Given the description of an element on the screen output the (x, y) to click on. 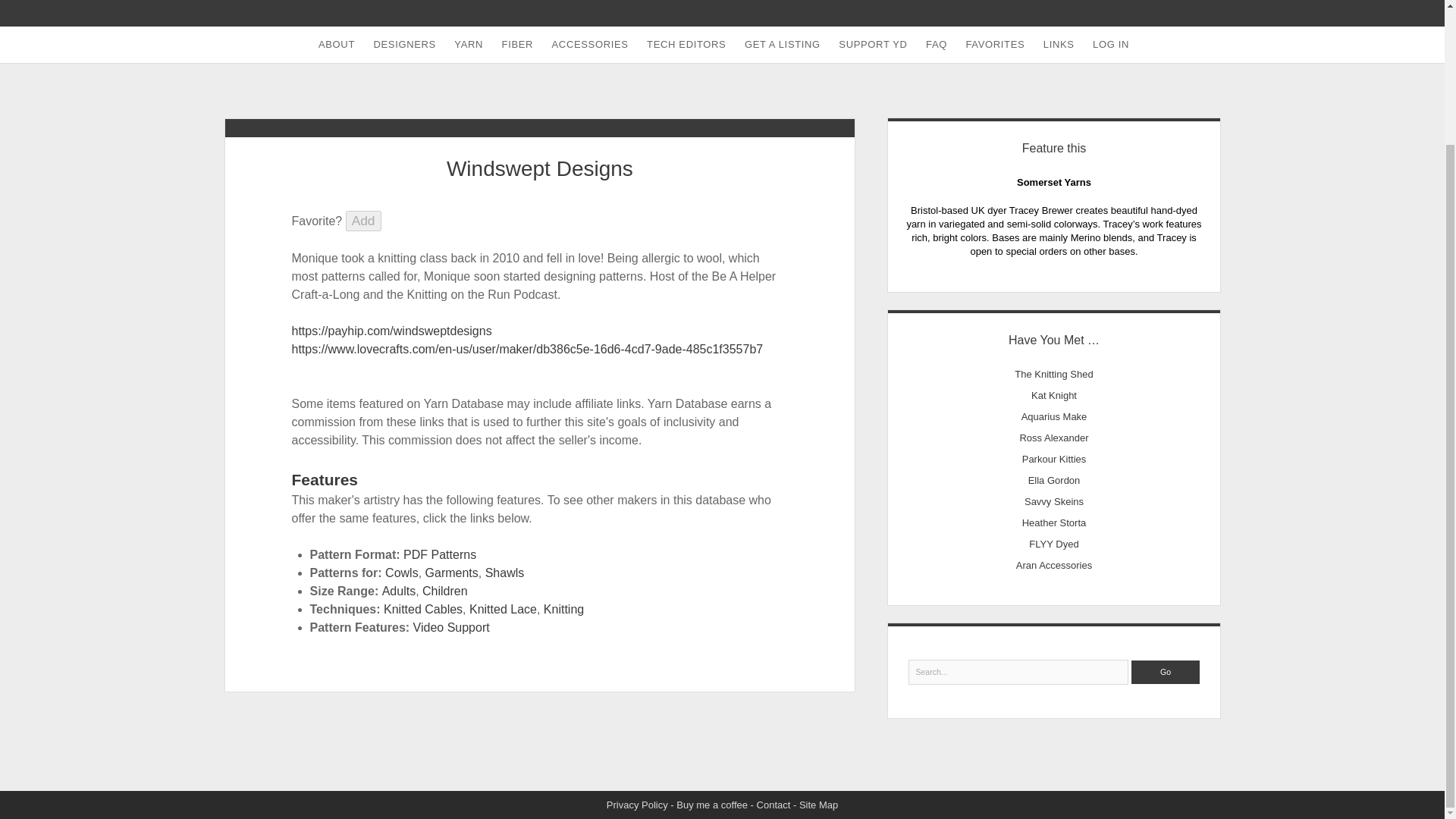
Ross Alexander (1053, 437)
GET A LISTING (782, 44)
Garments (452, 572)
Go (1165, 672)
Shawls (504, 572)
Children (444, 590)
FIBER (518, 44)
Search for: (1018, 672)
Parkour Kitties (1054, 459)
YARN (468, 44)
